Given the description of an element on the screen output the (x, y) to click on. 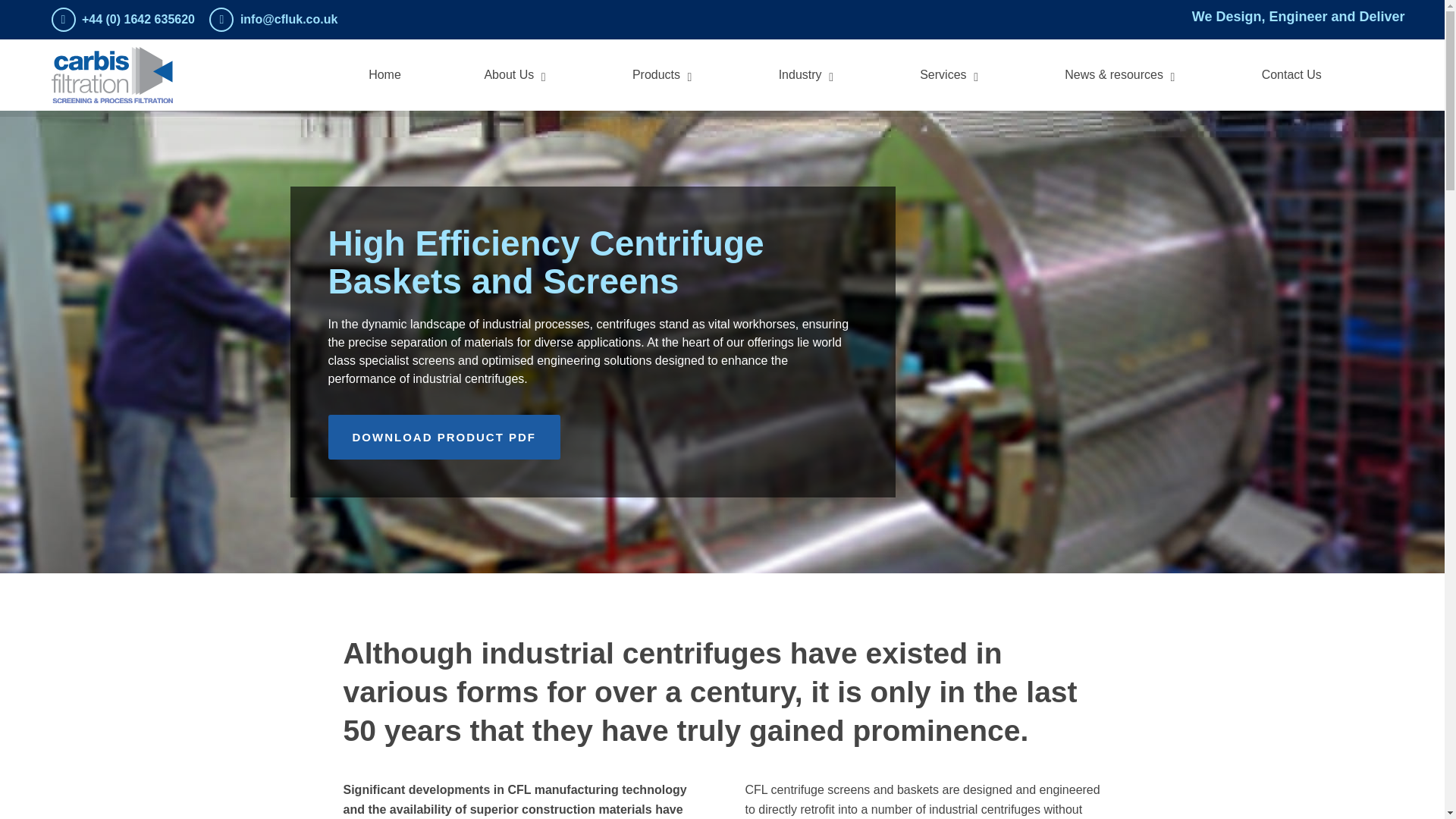
Services (950, 74)
About Us (515, 74)
Industry (807, 74)
DOWNLOAD PRODUCT PDF (443, 436)
Products (663, 74)
Contact Us (1291, 74)
